Given the description of an element on the screen output the (x, y) to click on. 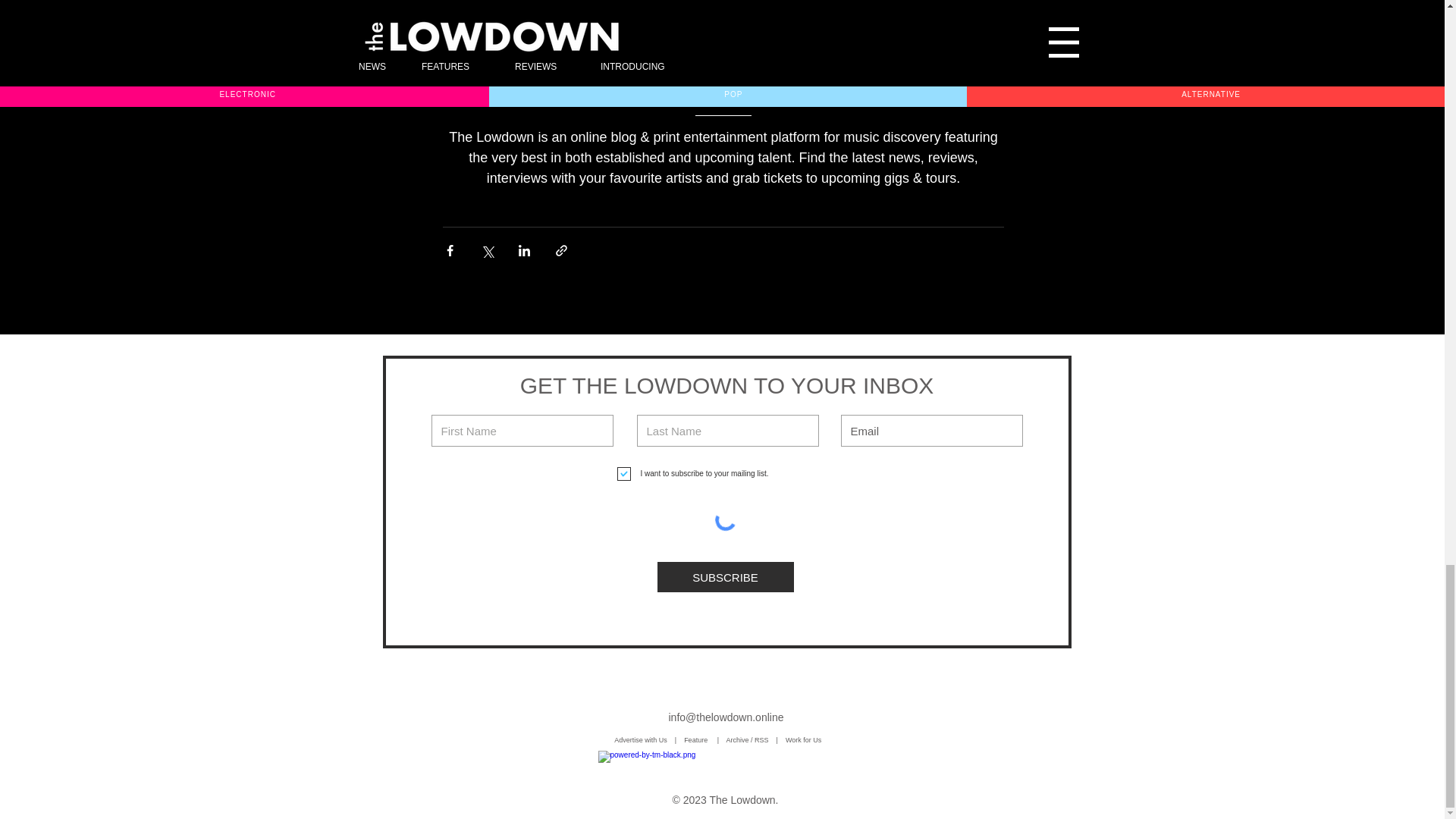
Feature      (700, 739)
Advertise with Us (640, 739)
SUBSCRIBE (724, 576)
HERE (745, 70)
Work for Us   (805, 739)
